Given the description of an element on the screen output the (x, y) to click on. 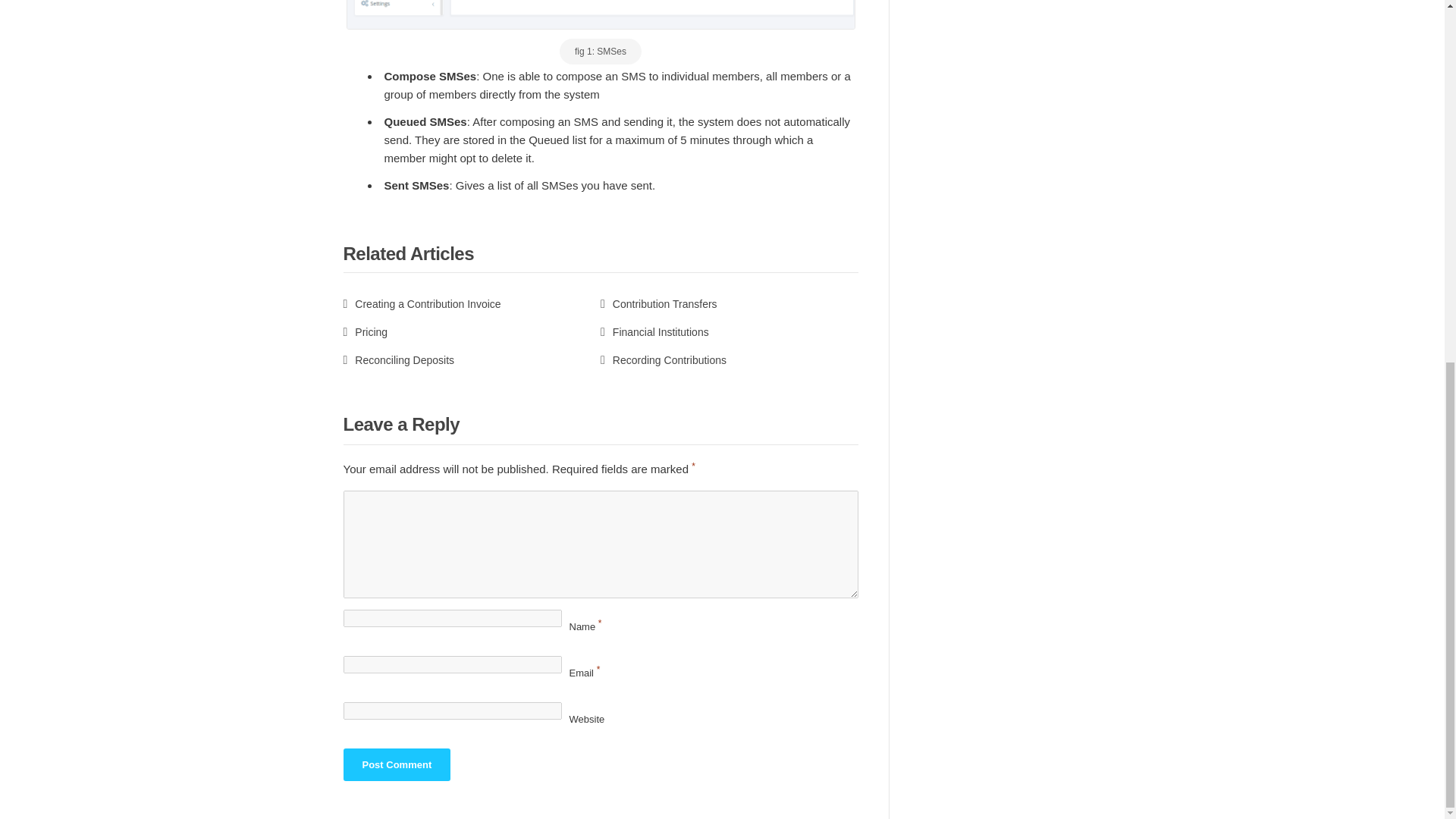
Contribution Transfers (658, 304)
Pricing (364, 331)
Post Comment (395, 764)
Reconciling Deposits (398, 359)
Reconciling Deposits (398, 359)
Recording Contributions (662, 359)
Financial Institutions (654, 331)
Contribution Transfers (658, 304)
Pricing (364, 331)
Creating a Contribution Invoice (421, 304)
